Given the description of an element on the screen output the (x, y) to click on. 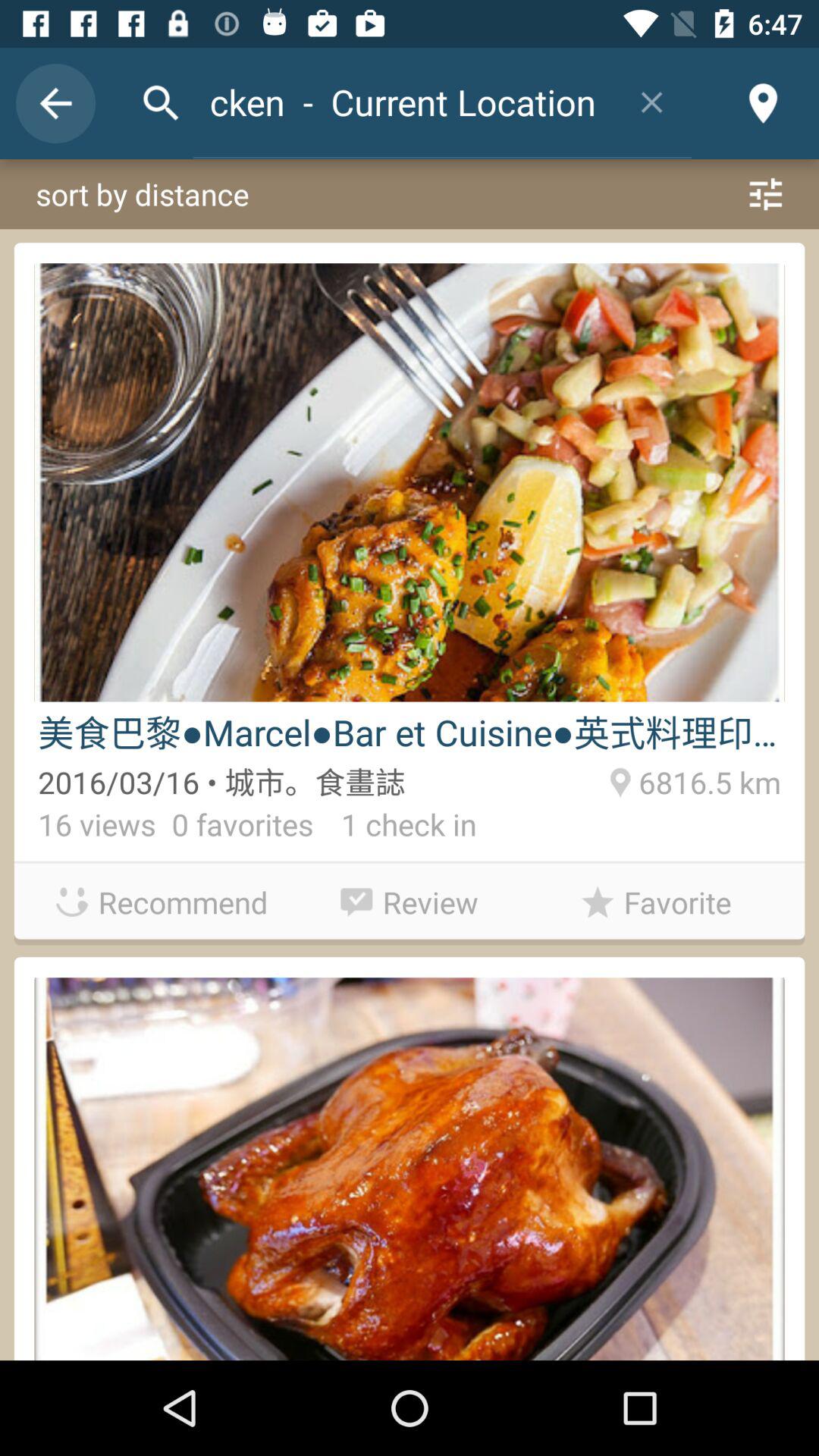
click the favorite icon (656, 902)
